Given the description of an element on the screen output the (x, y) to click on. 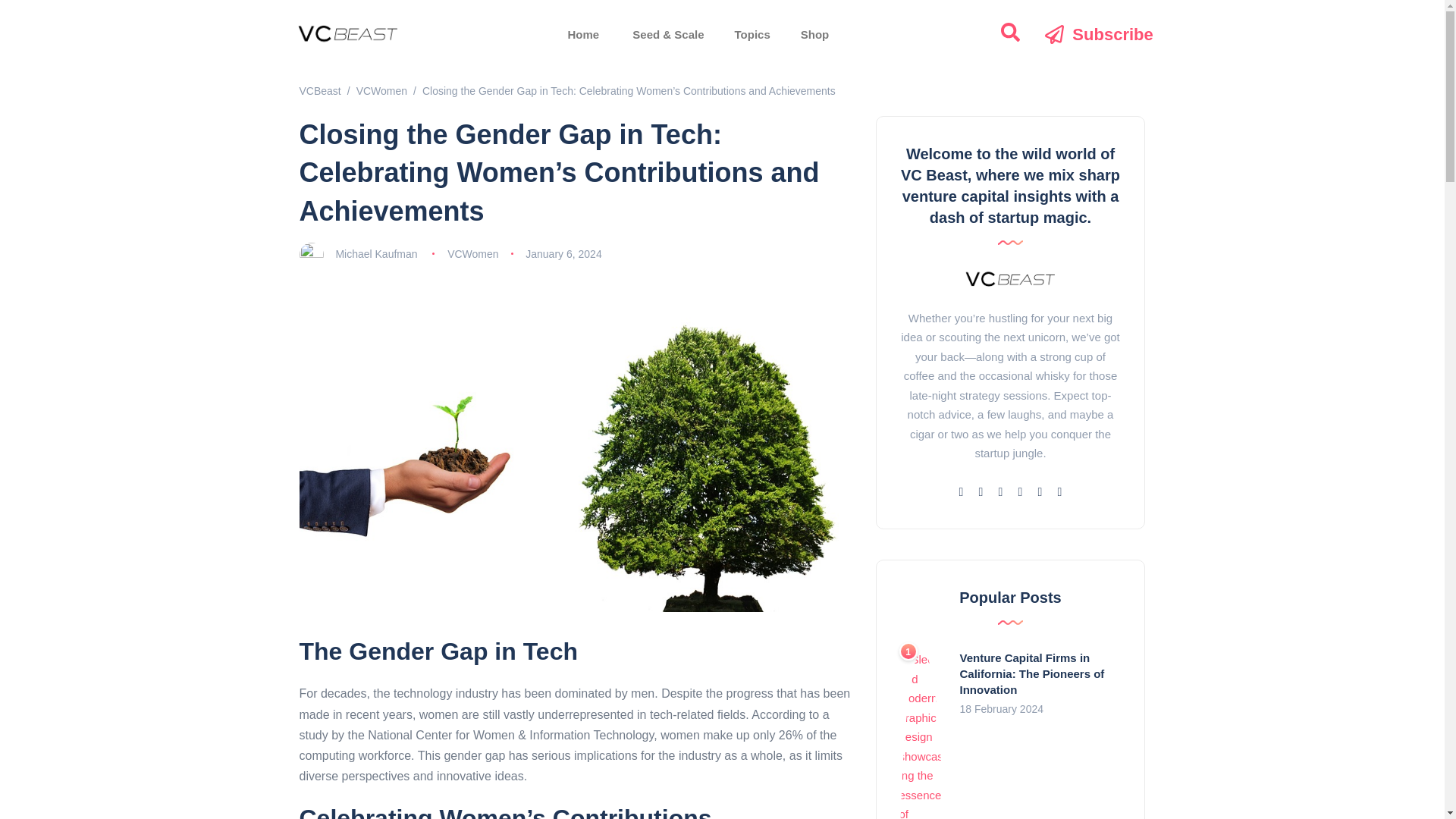
Home (582, 34)
Topics (752, 34)
Go to VCBeast. (319, 91)
Posts by Michael Kaufman (375, 254)
Go to the VCWomen Category archives. (381, 91)
